Given the description of an element on the screen output the (x, y) to click on. 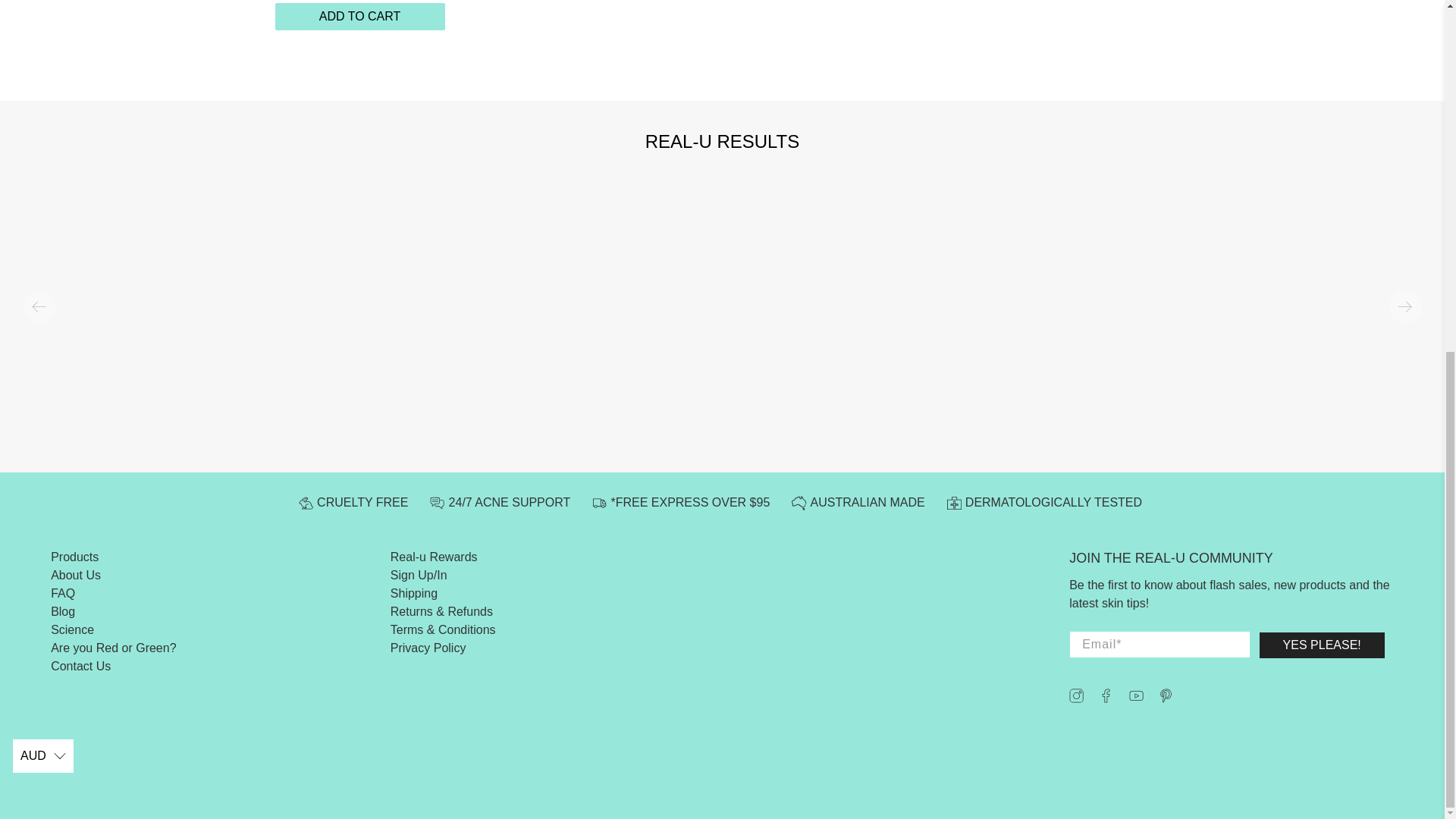
real-u on Instagram (1075, 698)
real-u on YouTube (1135, 698)
ADD TO CART (359, 16)
real-u on Facebook (1106, 698)
real-u on Pinterest (1165, 698)
